Given the description of an element on the screen output the (x, y) to click on. 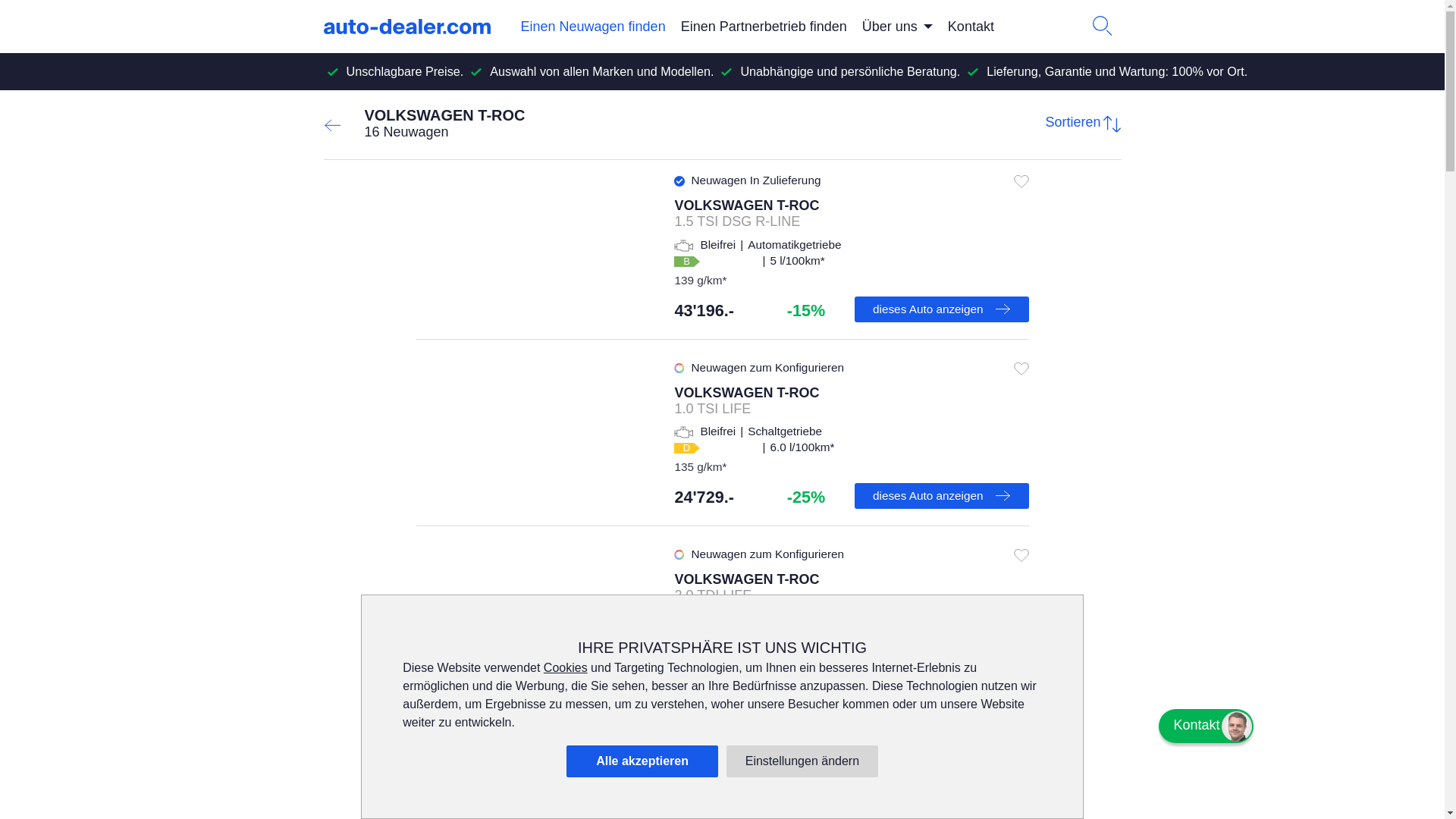
Kontakt Element type: text (970, 26)
Cookies Element type: text (565, 667)
Auswahl von allen Marken und Modellen. Element type: text (601, 71)
Unschlagbare Preise. Element type: text (404, 71)
Lieferung, Garantie und Wartung: 100% vor Ort. Element type: text (1116, 71)
Einen Neuwagen finden Element type: text (592, 26)
Alle akzeptieren Element type: text (642, 761)
Einen Partnerbetrieb finden Element type: text (763, 26)
